Given the description of an element on the screen output the (x, y) to click on. 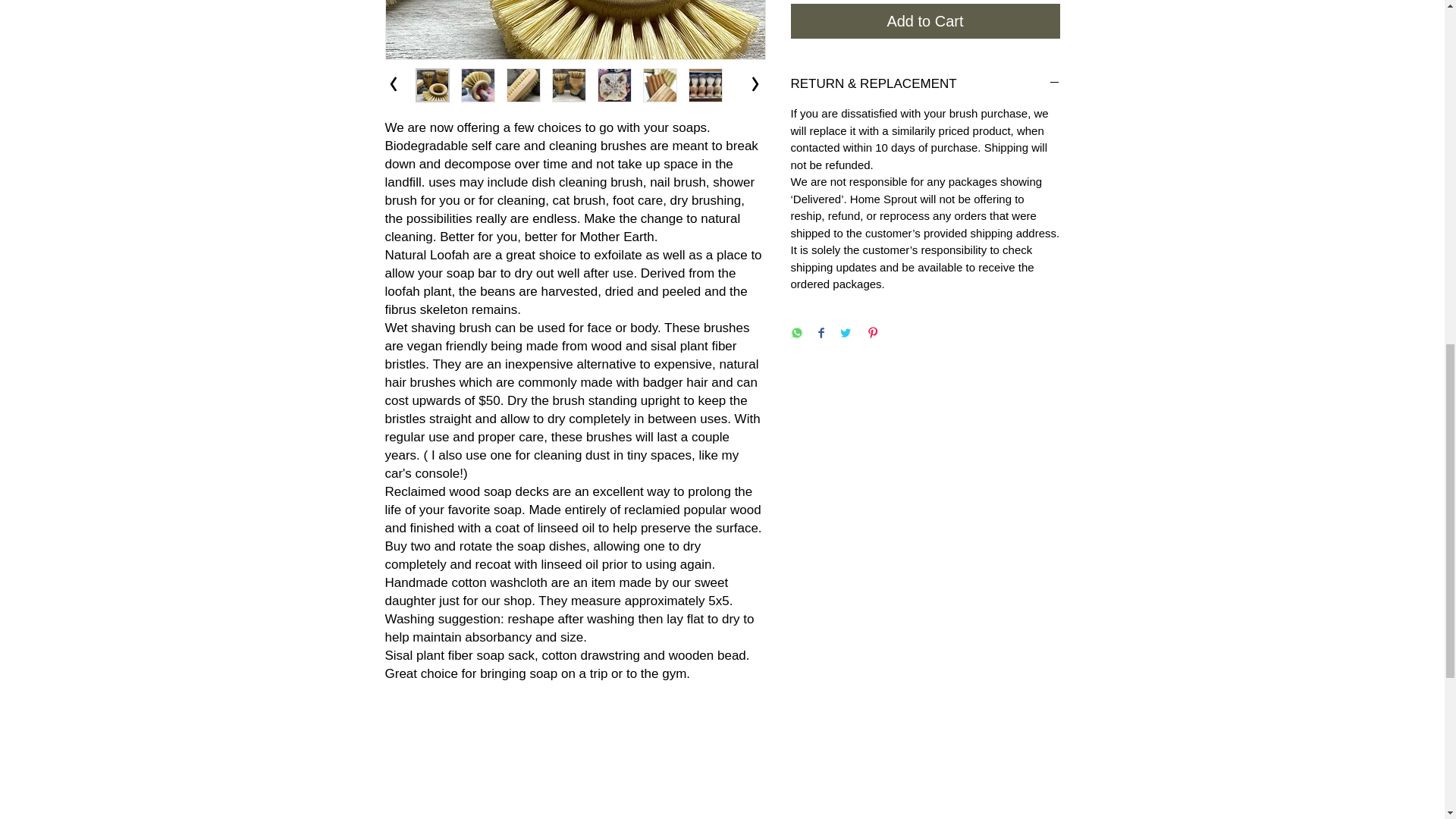
Add to Cart (924, 21)
